Given the description of an element on the screen output the (x, y) to click on. 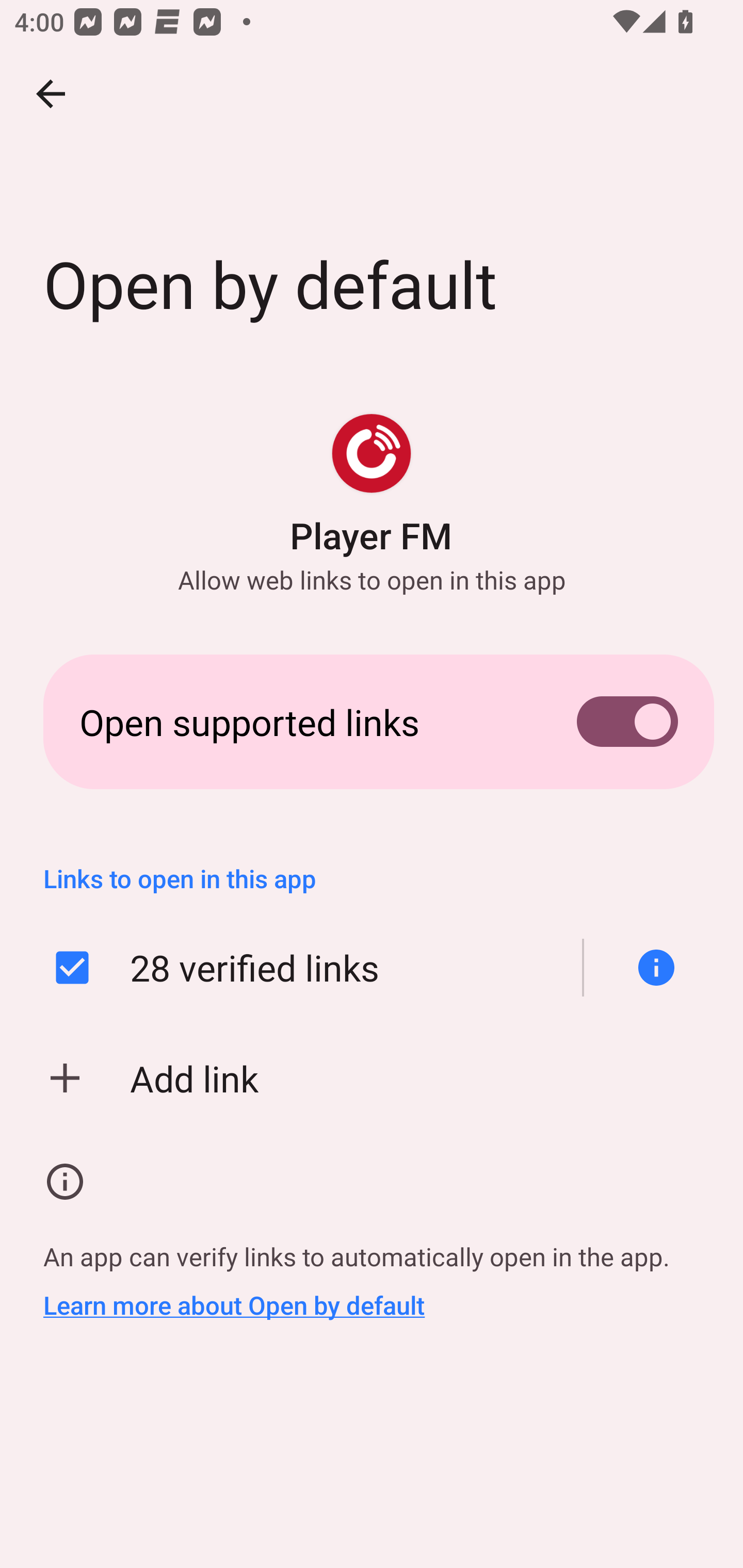
Navigate up (50, 93)
Player FM Allow web links to open in this app (371, 503)
Open supported links (371, 721)
28 verified links Show verified links list (371, 967)
Show verified links list (648, 967)
Add link (371, 1077)
